Given the description of an element on the screen output the (x, y) to click on. 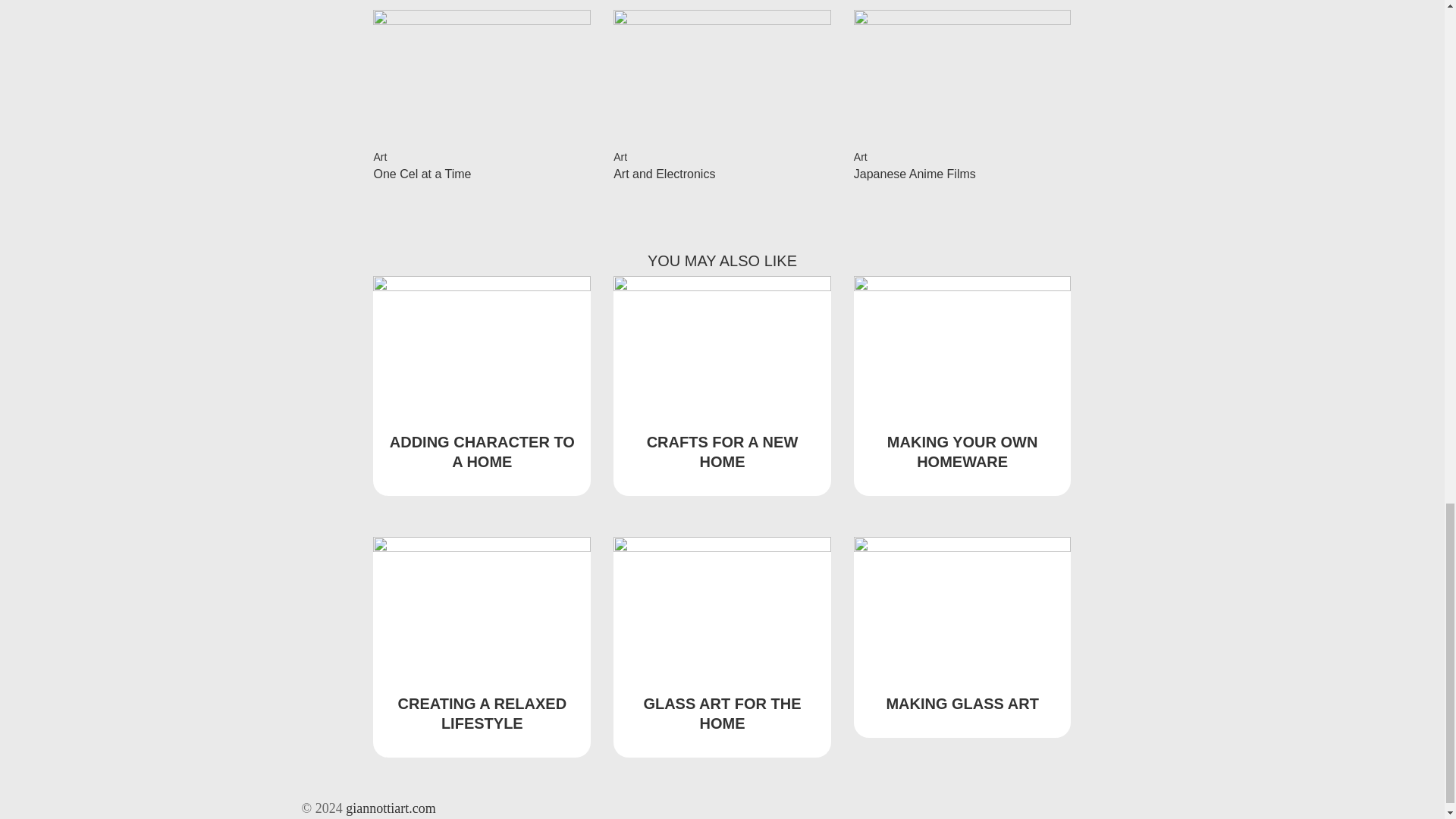
MAKING YOUR OWN HOMEWARE (962, 452)
Art (860, 156)
MAKING GLASS ART (961, 703)
Art (619, 156)
Art (379, 156)
GLASS ART FOR THE HOME (721, 713)
Art and Electronics (663, 173)
CRAFTS FOR A NEW HOME (721, 452)
One Cel at a Time (421, 173)
giannottiart.com (390, 807)
